Given the description of an element on the screen output the (x, y) to click on. 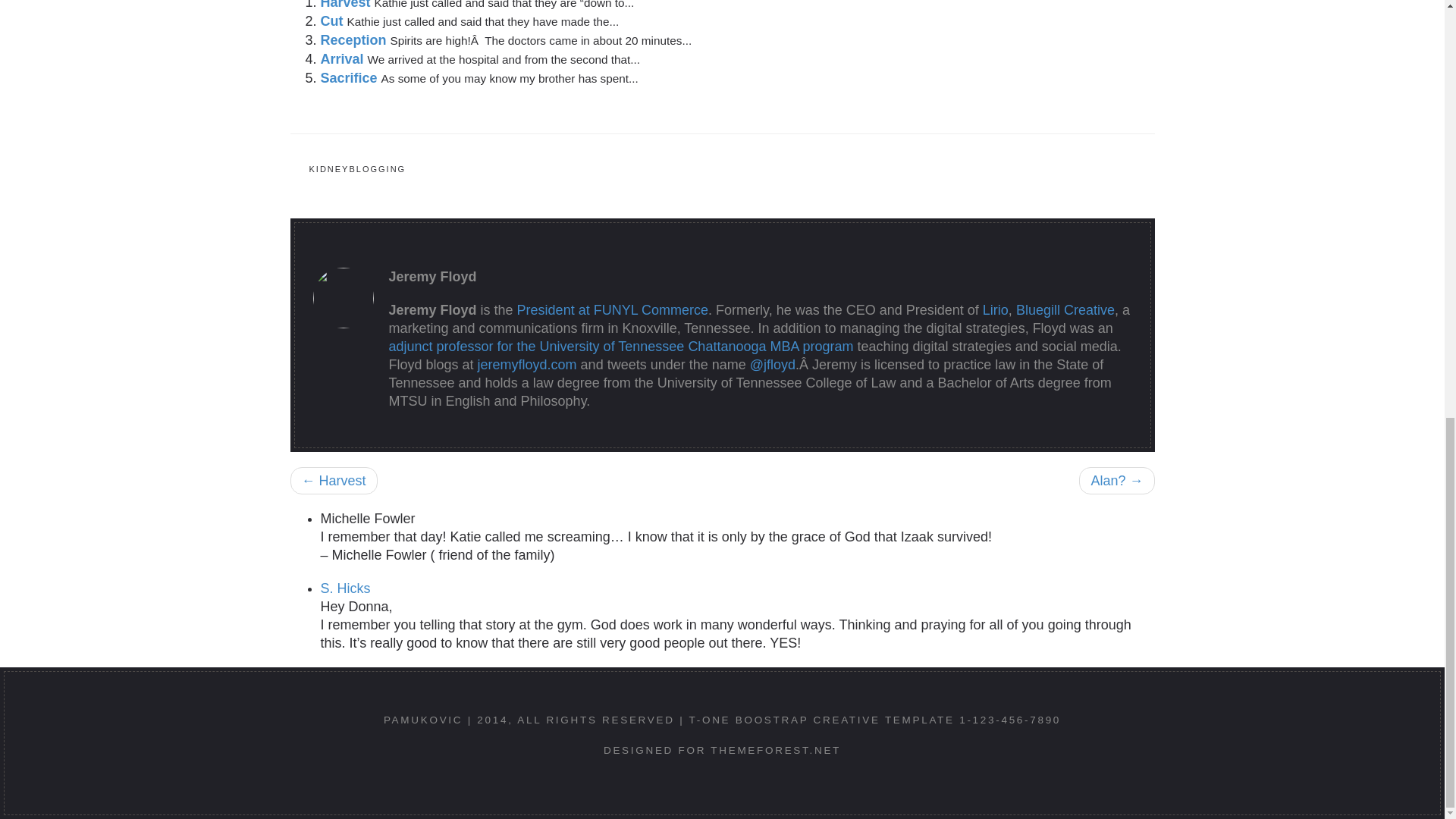
Arrival (343, 58)
Bluegill Creative (1065, 309)
jeremyfloyd.com (526, 364)
Sacrifice (350, 77)
Reception (355, 39)
Harvest (347, 4)
KIDNEYBLOGGING (356, 169)
Sacrifice (350, 77)
Cut (333, 20)
Harvest (347, 4)
Lirio (995, 309)
Reception (355, 39)
Cut (333, 20)
Arrival (343, 58)
S. Hicks (344, 588)
